Given the description of an element on the screen output the (x, y) to click on. 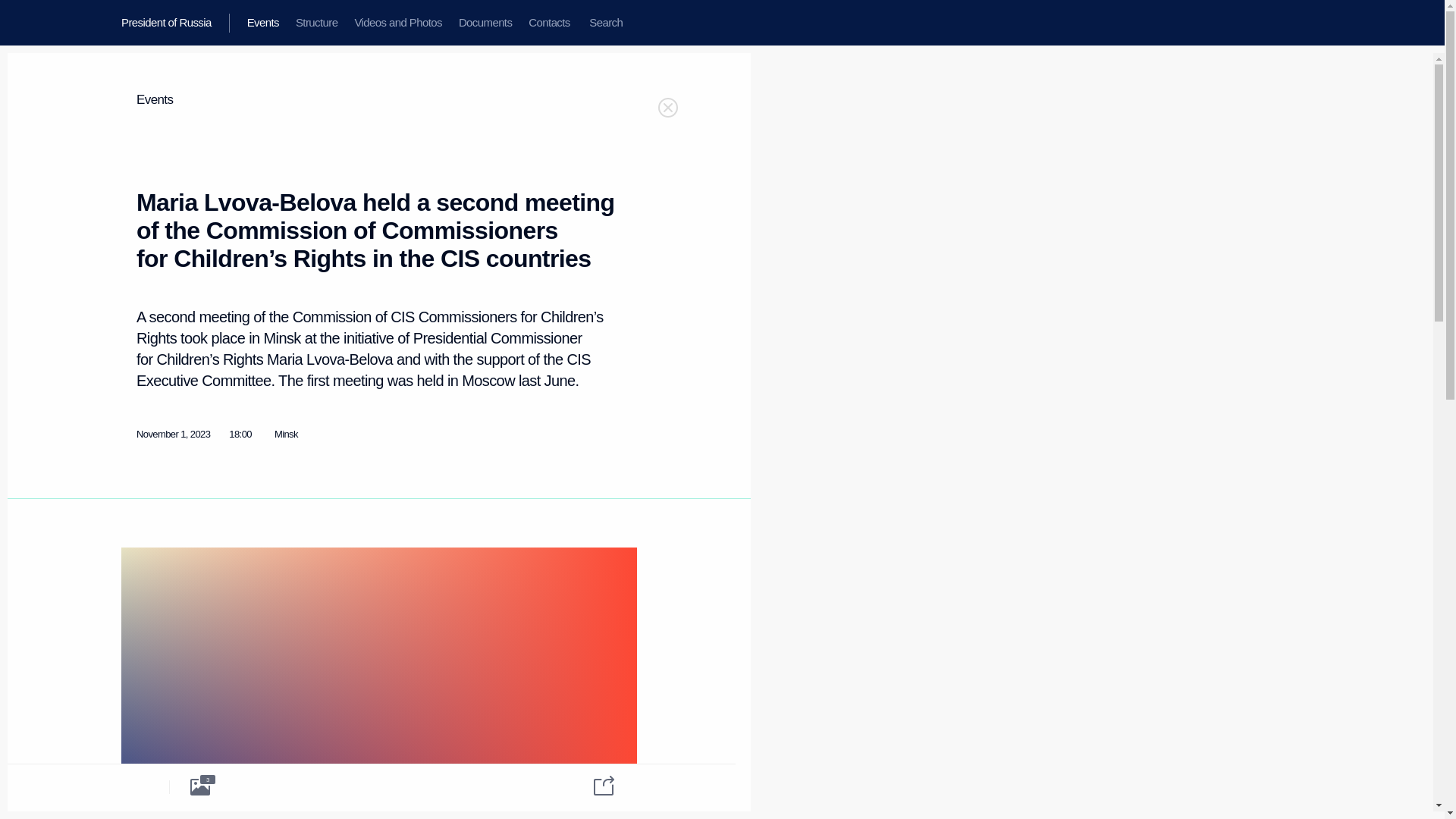
President of Russia (175, 22)
Videos and Photos (397, 22)
Text (137, 786)
Events (154, 99)
Photo (200, 786)
Structure (316, 22)
Share (593, 784)
Search (605, 22)
Documents (484, 22)
Contacts (548, 22)
Events (262, 22)
Global website search (605, 22)
